Given the description of an element on the screen output the (x, y) to click on. 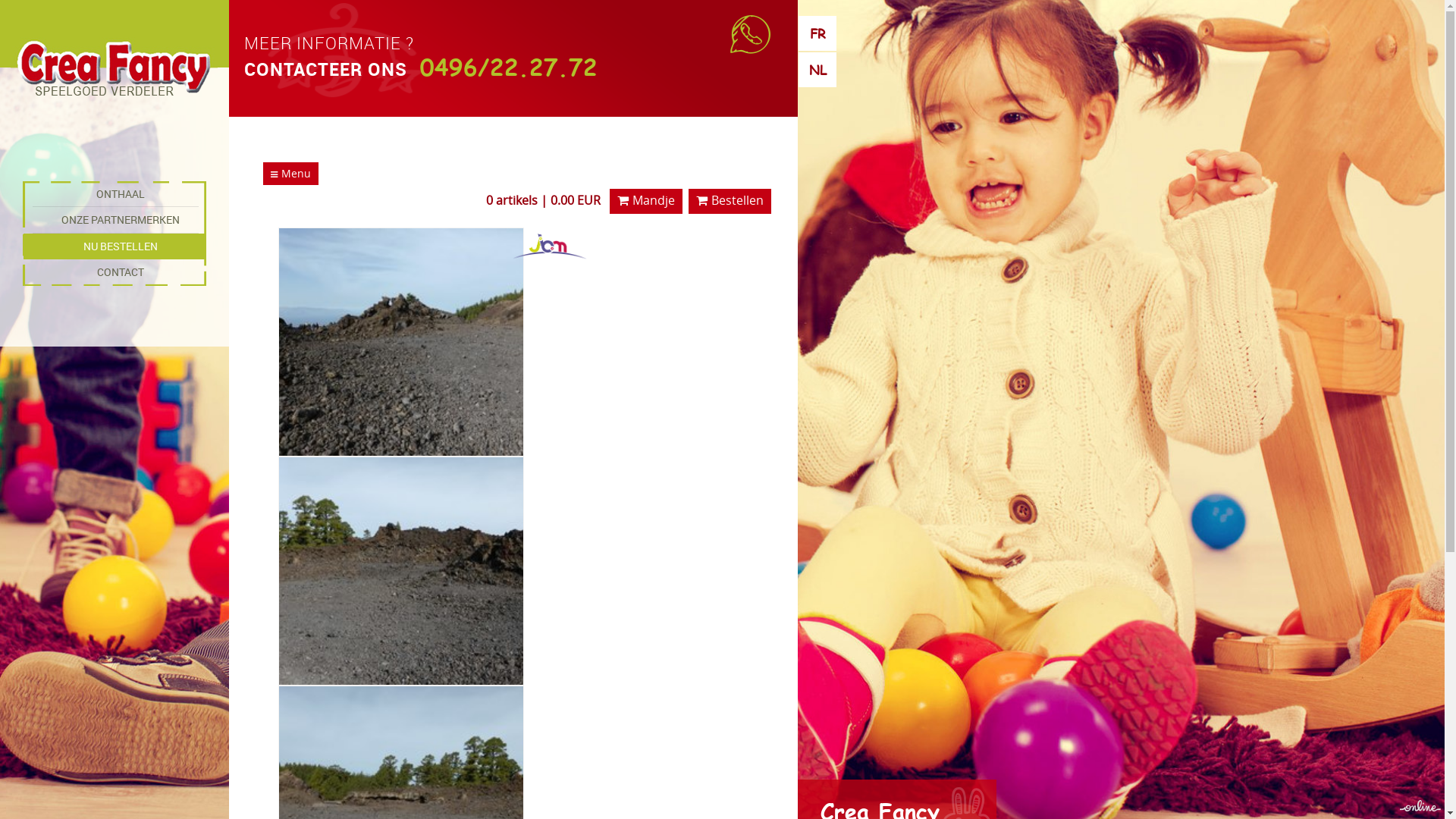
0496/22.27.72 Element type: text (504, 66)
Mandje Element type: text (645, 200)
ONZE PARTNERMERKEN Element type: text (114, 219)
ONTHAAL Element type: text (114, 194)
CONTACT Element type: text (114, 272)
FR Element type: text (817, 32)
NL Element type: text (817, 69)
JBM Element type: hover (549, 246)
Bestellen Element type: text (729, 200)
NU BESTELLEN Element type: text (114, 246)
